Given the description of an element on the screen output the (x, y) to click on. 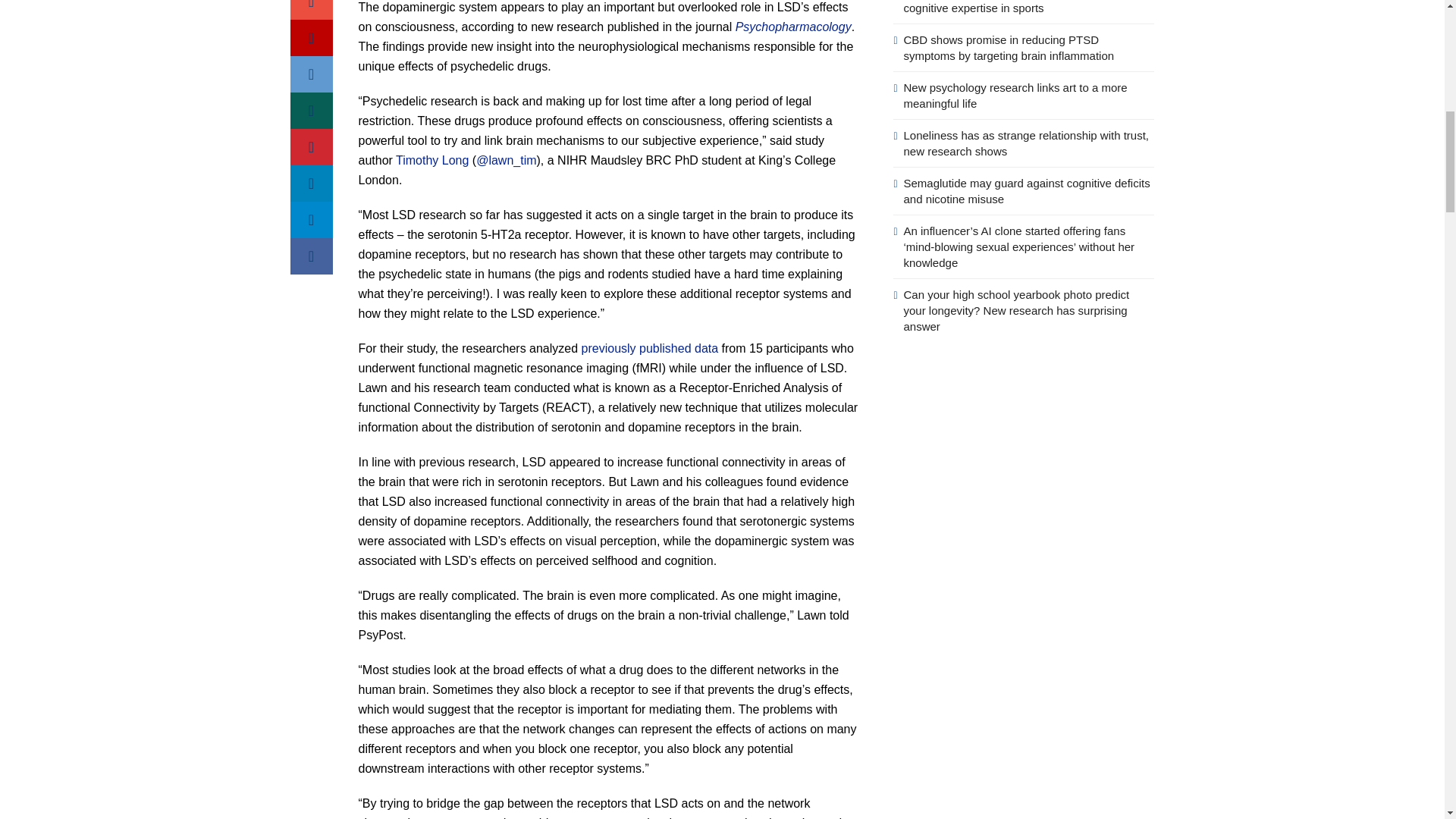
Psychopharmacology (793, 26)
Timothy Long (432, 160)
previously published data (649, 348)
